Given the description of an element on the screen output the (x, y) to click on. 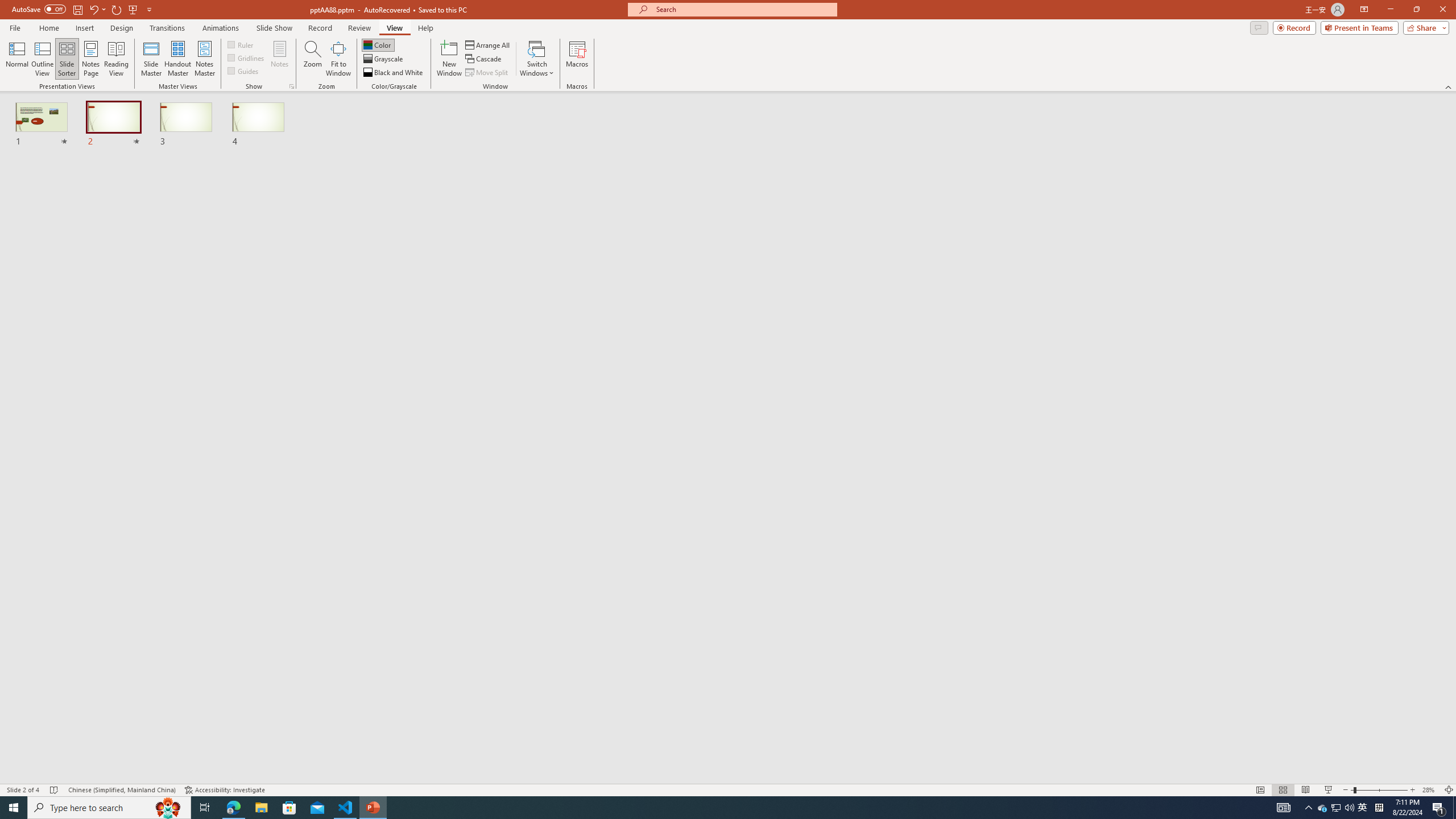
Color (377, 44)
Arrange All (488, 44)
Notes (279, 58)
Slide Master (151, 58)
New Window (449, 58)
